Given the description of an element on the screen output the (x, y) to click on. 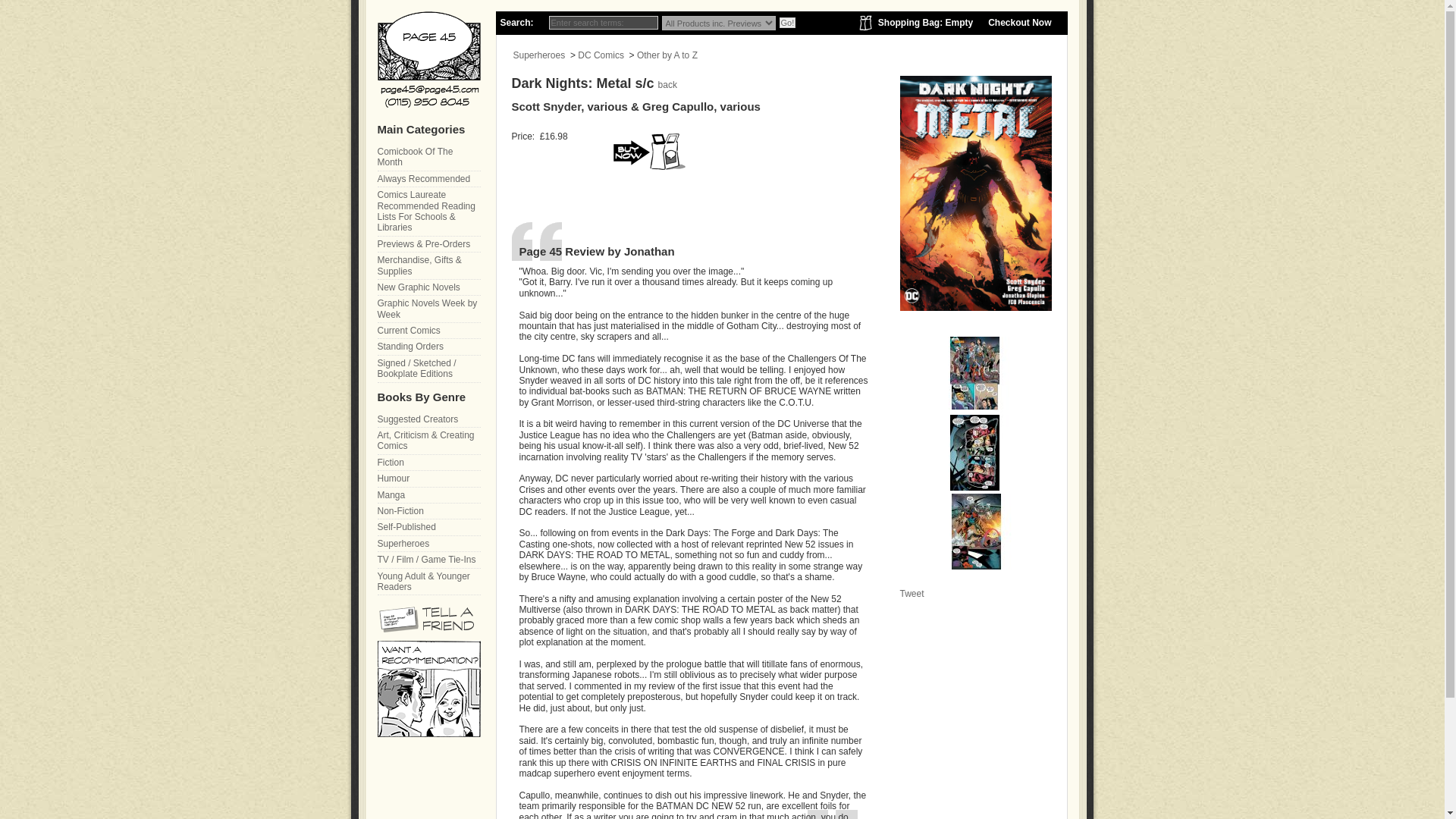
Other by A to Z (667, 54)
Ask Page 45 for a recommendation (428, 733)
Go! (787, 22)
Superheroes (538, 54)
Checkout from the shop (1019, 22)
Self-Published (428, 527)
Checkout Now (1019, 22)
Always Recommended (428, 179)
Fiction (428, 462)
Non-Fiction (428, 511)
